Given the description of an element on the screen output the (x, y) to click on. 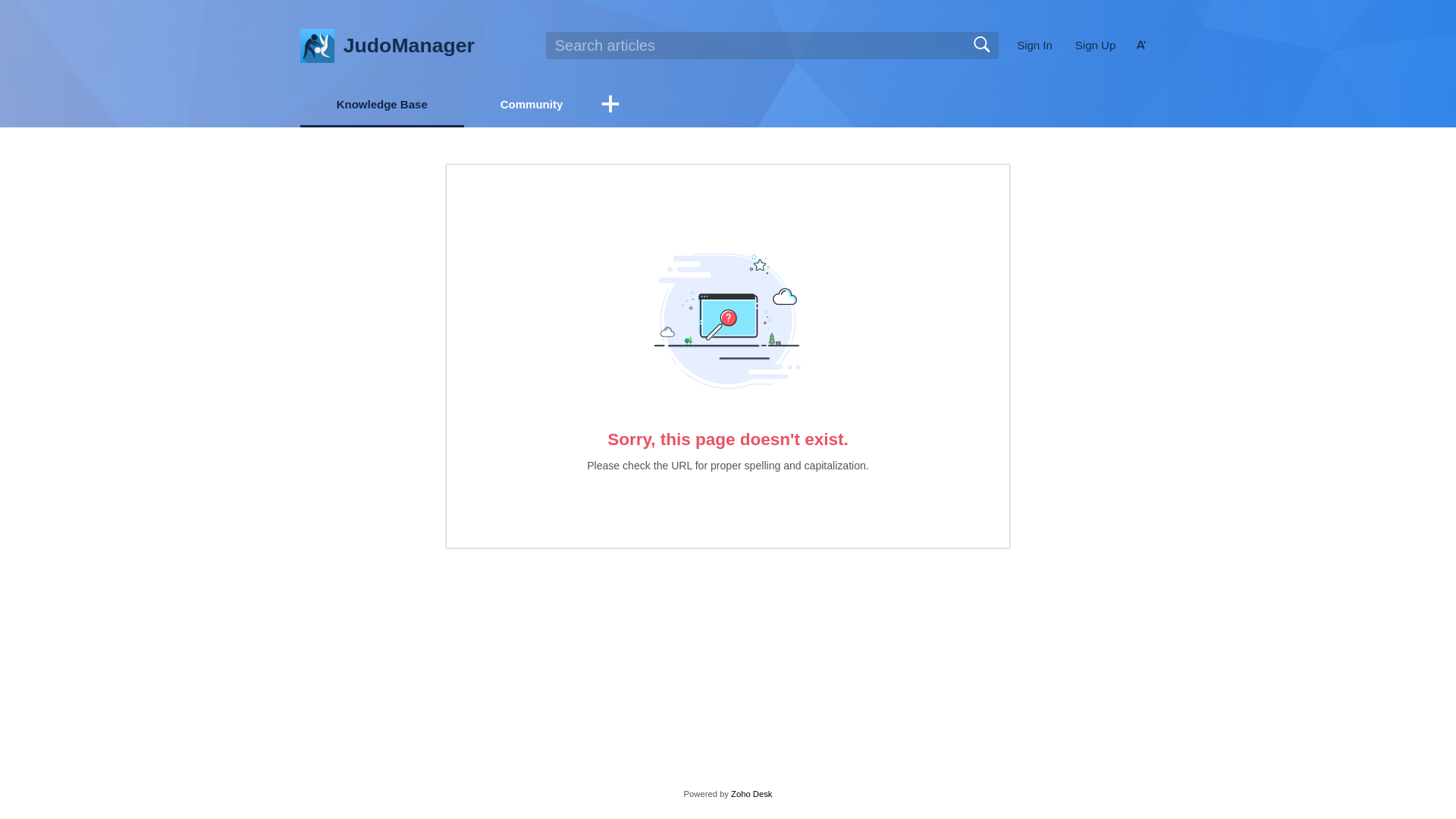
Knowledge Base (382, 103)
Community (531, 103)
Search (981, 44)
JudoManager (408, 45)
Sign In (1034, 45)
Knowledge Base (381, 104)
Zoho Desk (750, 793)
Community (531, 104)
Sign Up (1095, 45)
